Given the description of an element on the screen output the (x, y) to click on. 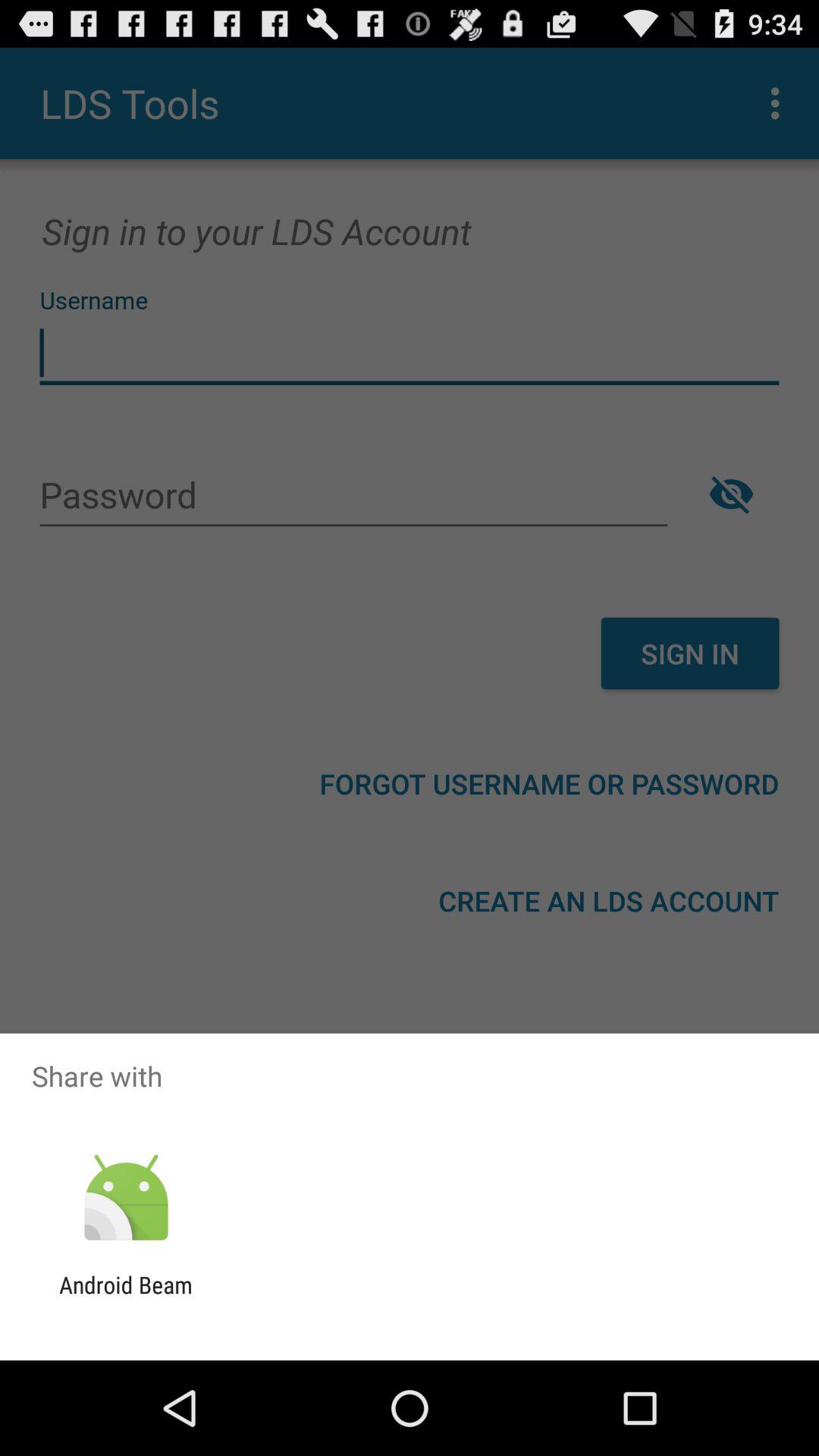
turn on the android beam item (125, 1298)
